Given the description of an element on the screen output the (x, y) to click on. 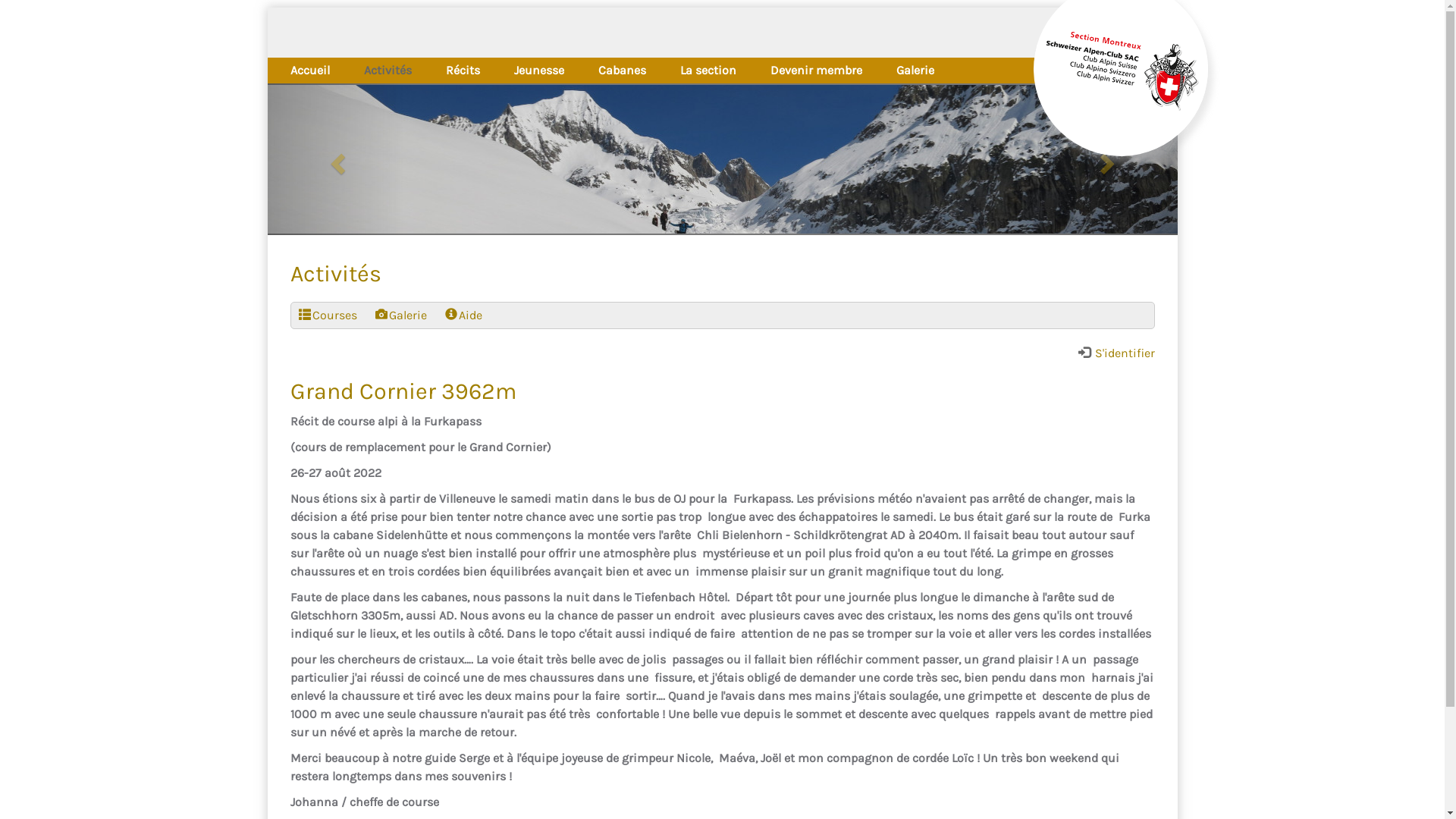
Jeunesse Element type: text (539, 69)
Galerie Element type: text (915, 70)
Devenir membre Element type: text (816, 69)
Next Element type: text (1108, 159)
La section Element type: text (708, 70)
Galerie Element type: text (400, 315)
S'identifier Element type: text (1116, 352)
La section Element type: text (708, 69)
Courses Element type: hover (304, 314)
Accueil Element type: text (309, 69)
Courses Element type: text (327, 315)
Cabanes Element type: text (621, 70)
Devenir membre Element type: text (816, 70)
Accueil Element type: text (309, 70)
Jeunesse Element type: text (538, 70)
Previous Element type: text (334, 159)
Aide Element type: text (462, 315)
